Given the description of an element on the screen output the (x, y) to click on. 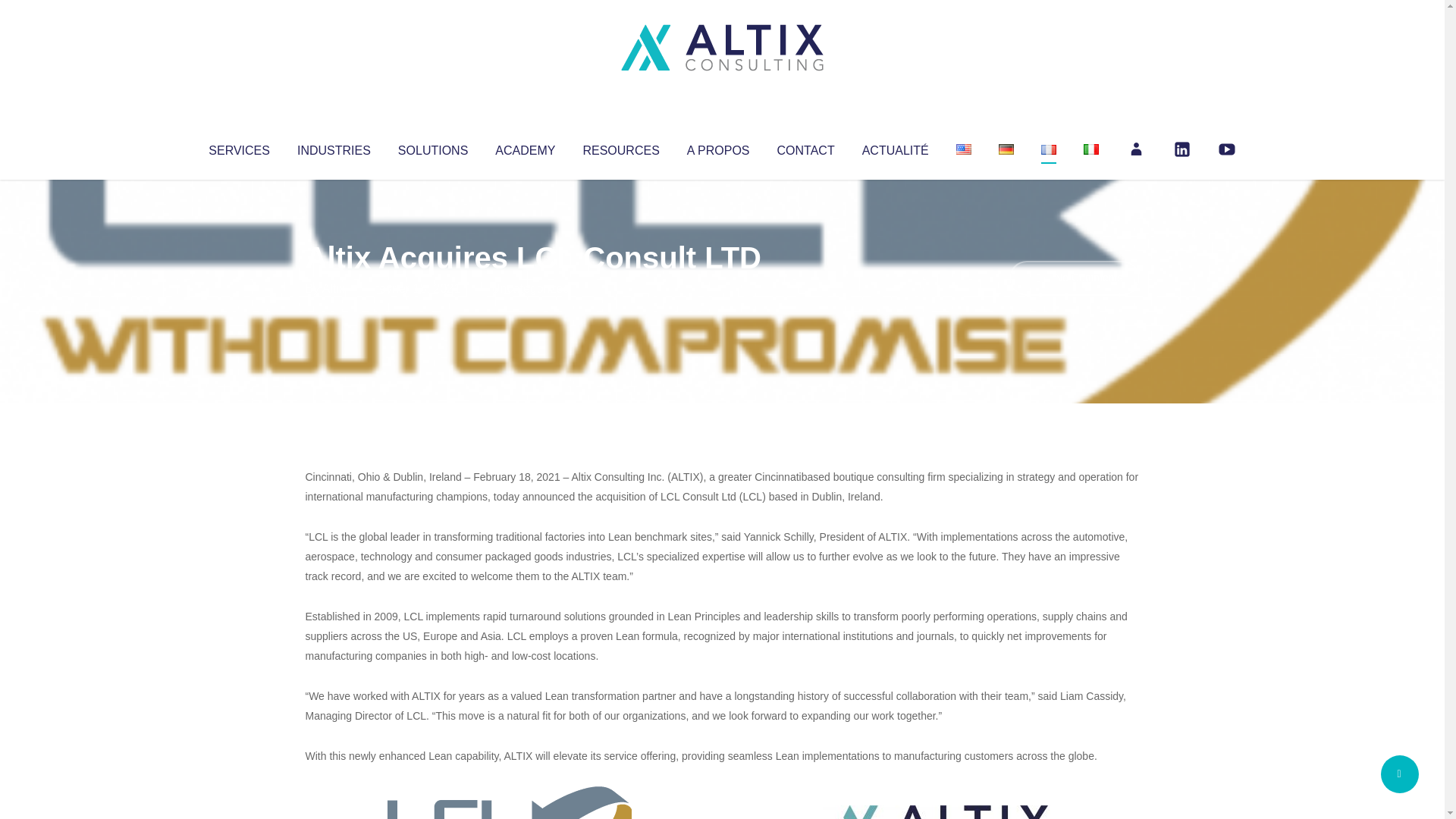
A PROPOS (718, 146)
Altix (333, 287)
Uncategorized (530, 287)
No Comments (1073, 278)
ACADEMY (524, 146)
Articles par Altix (333, 287)
SERVICES (238, 146)
INDUSTRIES (334, 146)
RESOURCES (620, 146)
SOLUTIONS (432, 146)
